Given the description of an element on the screen output the (x, y) to click on. 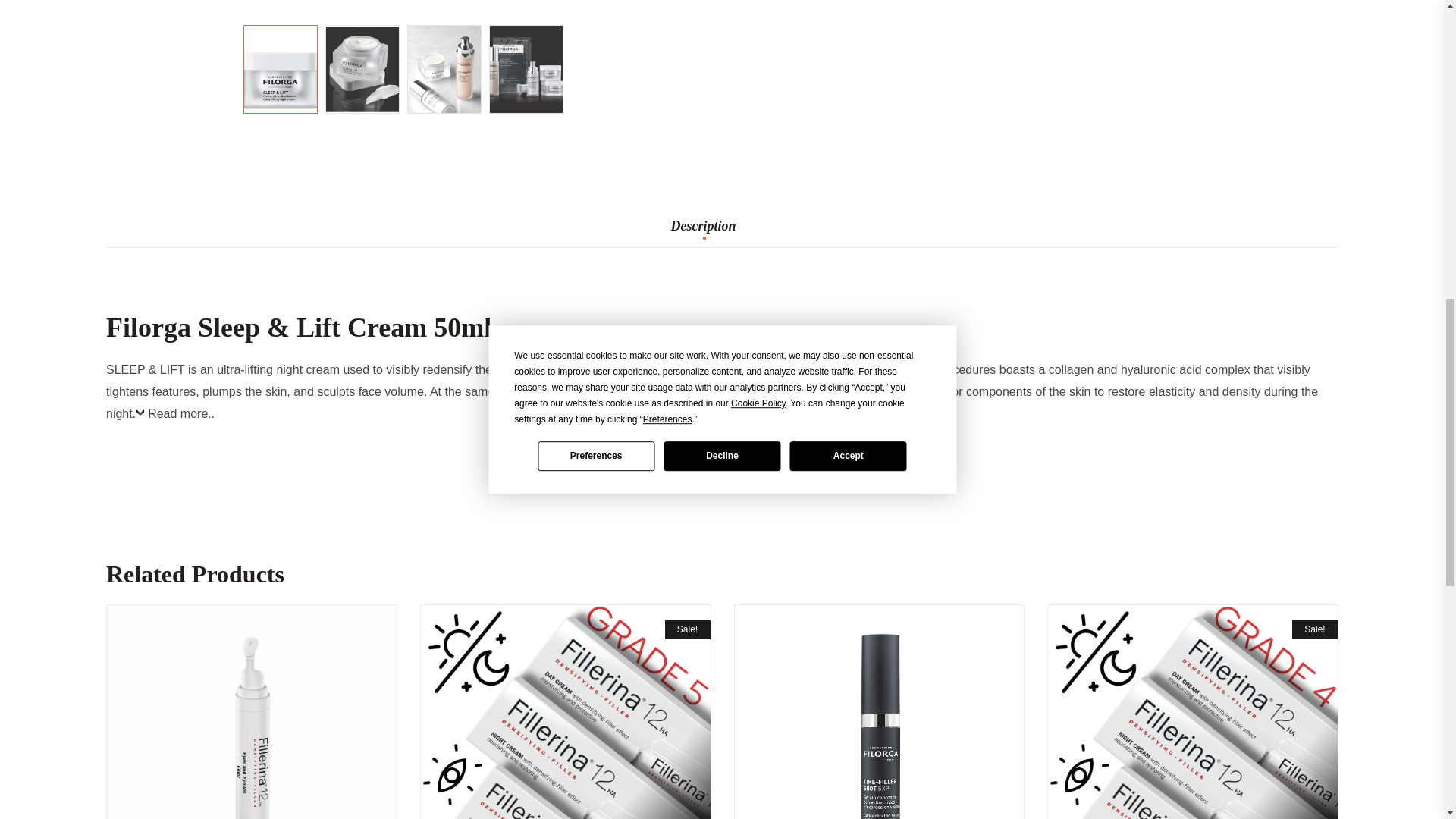
Read more.. (174, 417)
